Given the description of an element on the screen output the (x, y) to click on. 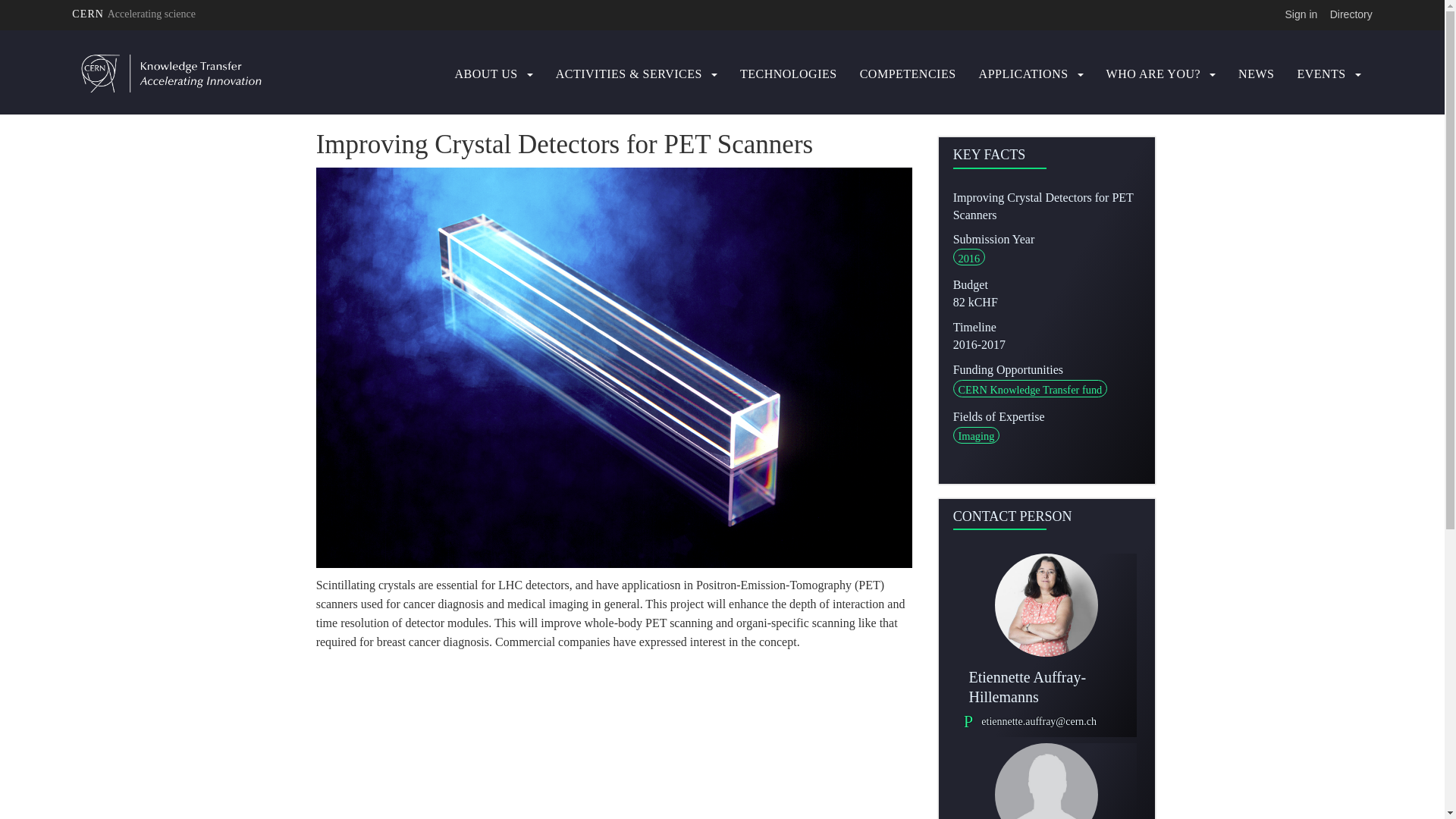
EVENTS (1321, 74)
COMPETENCIES (908, 74)
NEWS (1256, 74)
Search CERN resources and browse the directory (1350, 14)
WHO ARE YOU? (1153, 74)
Sign in (1301, 14)
APPLICATIONS (1023, 74)
CERN (133, 14)
ABOUT US (485, 74)
TECHNOLOGIES (788, 74)
Home (230, 74)
CERN Accelerating science (133, 14)
Directory (1350, 14)
